Given the description of an element on the screen output the (x, y) to click on. 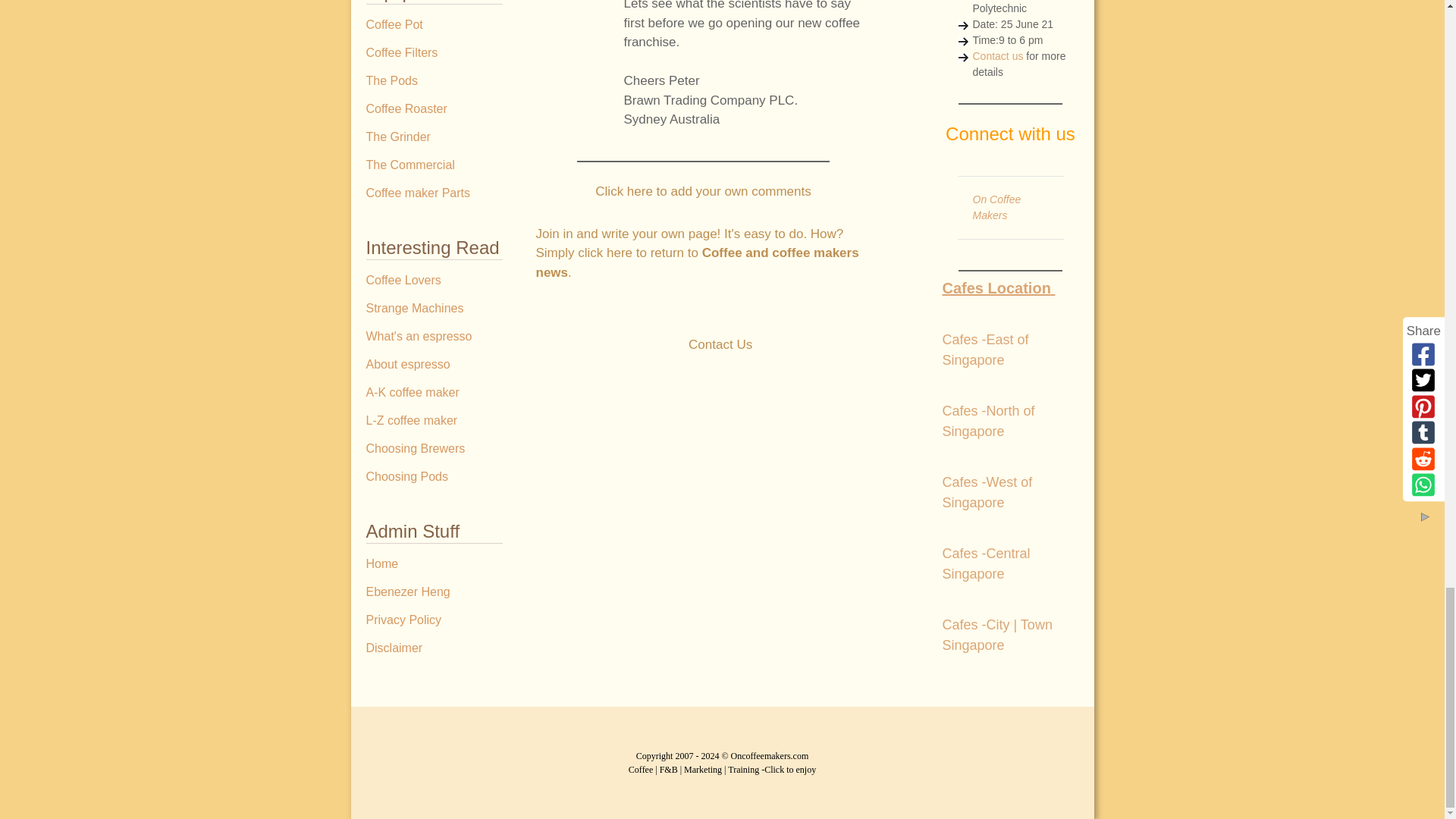
Click here to add your own comments (702, 191)
Contact Us (720, 343)
